Given the description of an element on the screen output the (x, y) to click on. 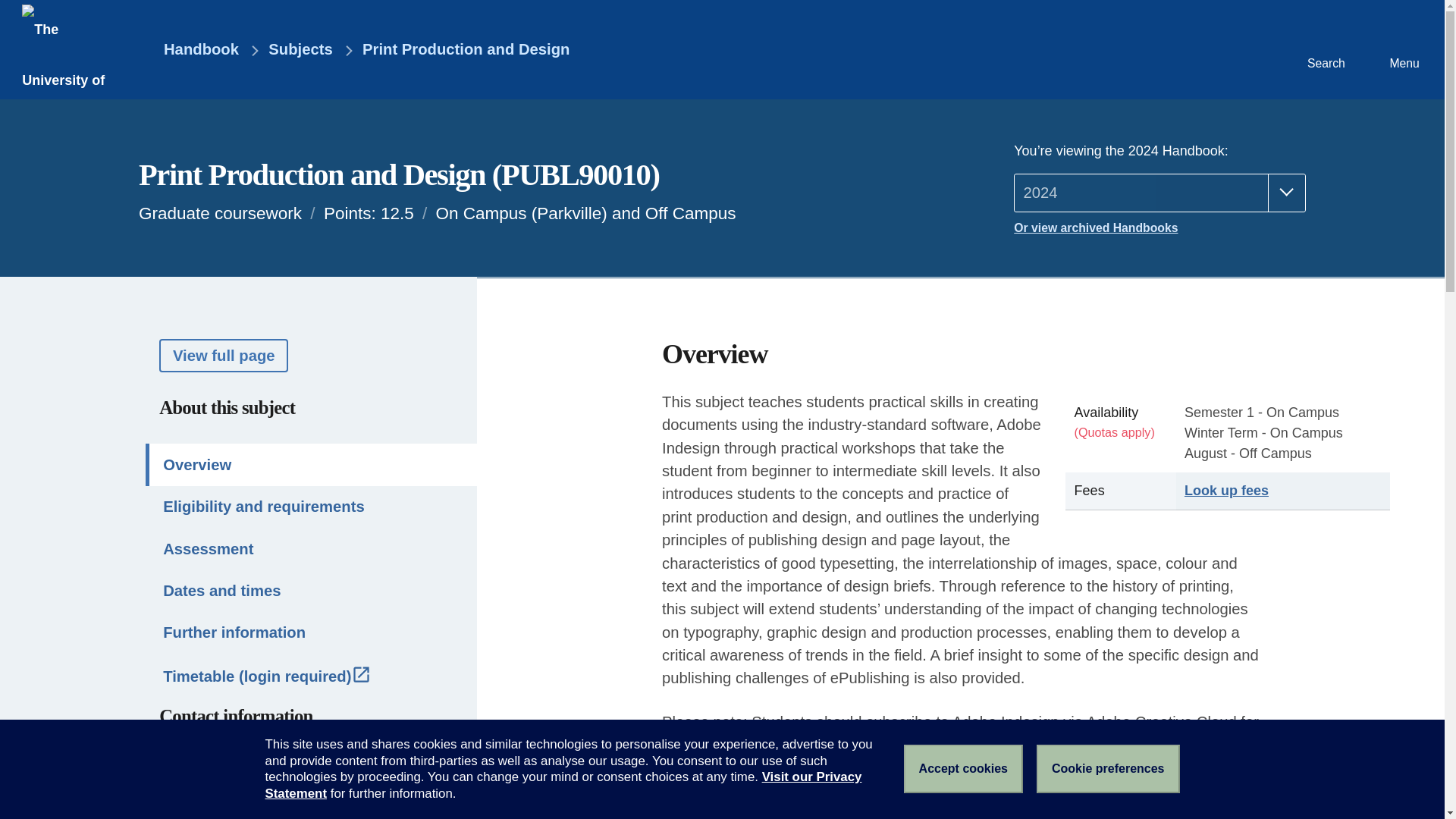
View full page (223, 355)
Further information (311, 632)
Search (1324, 49)
Search (1324, 49)
Assessment (311, 548)
Look up fees (1226, 490)
Handbook (189, 49)
Subjects (299, 49)
Eligibility and requirements (311, 506)
Or view archived Handbooks (1159, 228)
